Given the description of an element on the screen output the (x, y) to click on. 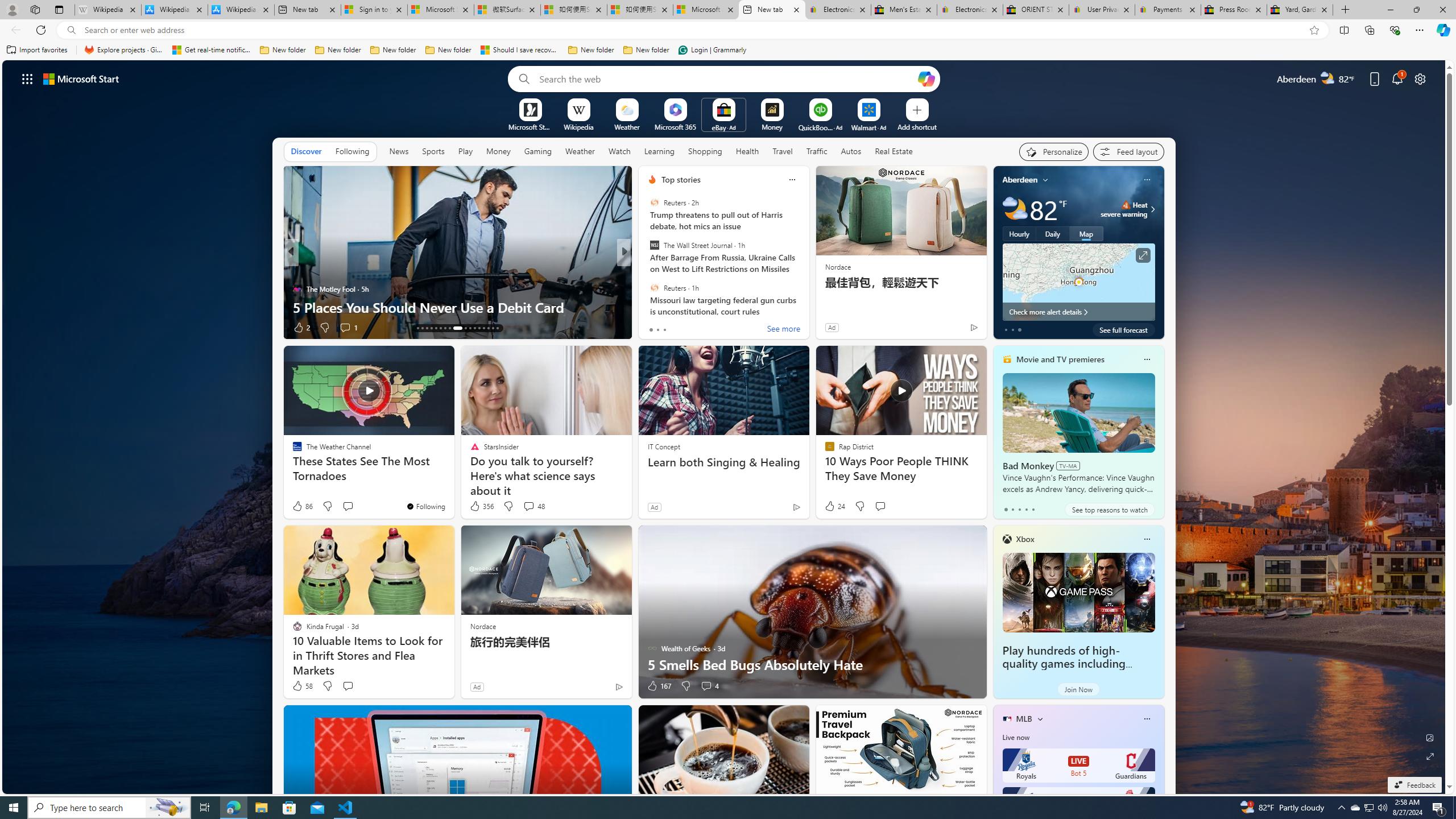
AutomationID: tab-25 (478, 328)
Play (465, 151)
Learning (658, 151)
GitHub is the Best Place for Free and Open Source Software (807, 298)
AutomationID: tab-16 (431, 328)
Start the conversation (347, 685)
Autos (851, 151)
11 Like (303, 327)
Daily (1052, 233)
Learn both Singing & Healing (723, 462)
MUO (647, 288)
